Given the description of an element on the screen output the (x, y) to click on. 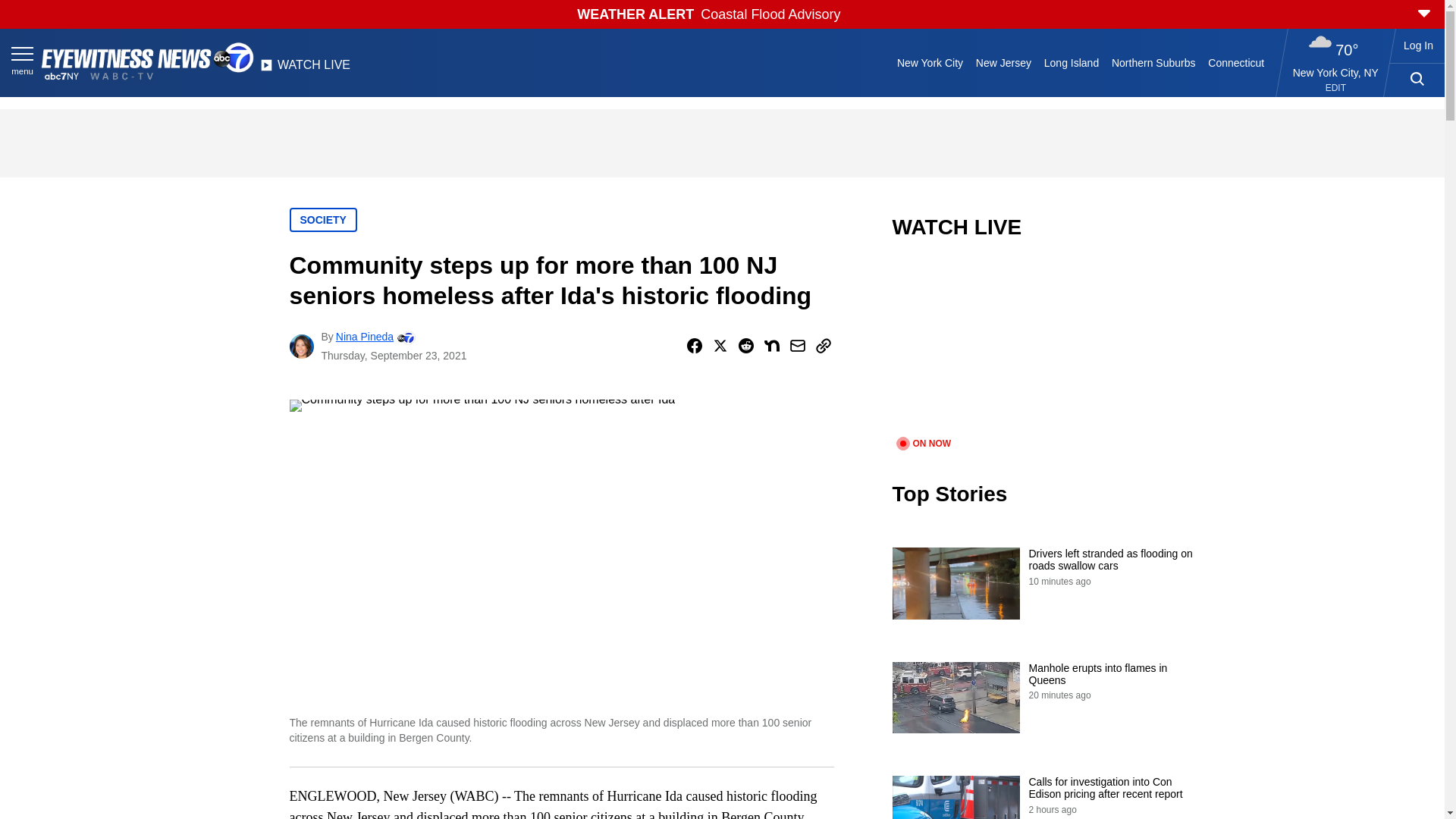
New York City, NY (1335, 72)
Long Island (1070, 62)
Connecticut (1236, 62)
New Jersey (1002, 62)
New York City (930, 62)
EDIT (1334, 87)
Northern Suburbs (1153, 62)
video.title (1043, 347)
WATCH LIVE (305, 69)
